Given the description of an element on the screen output the (x, y) to click on. 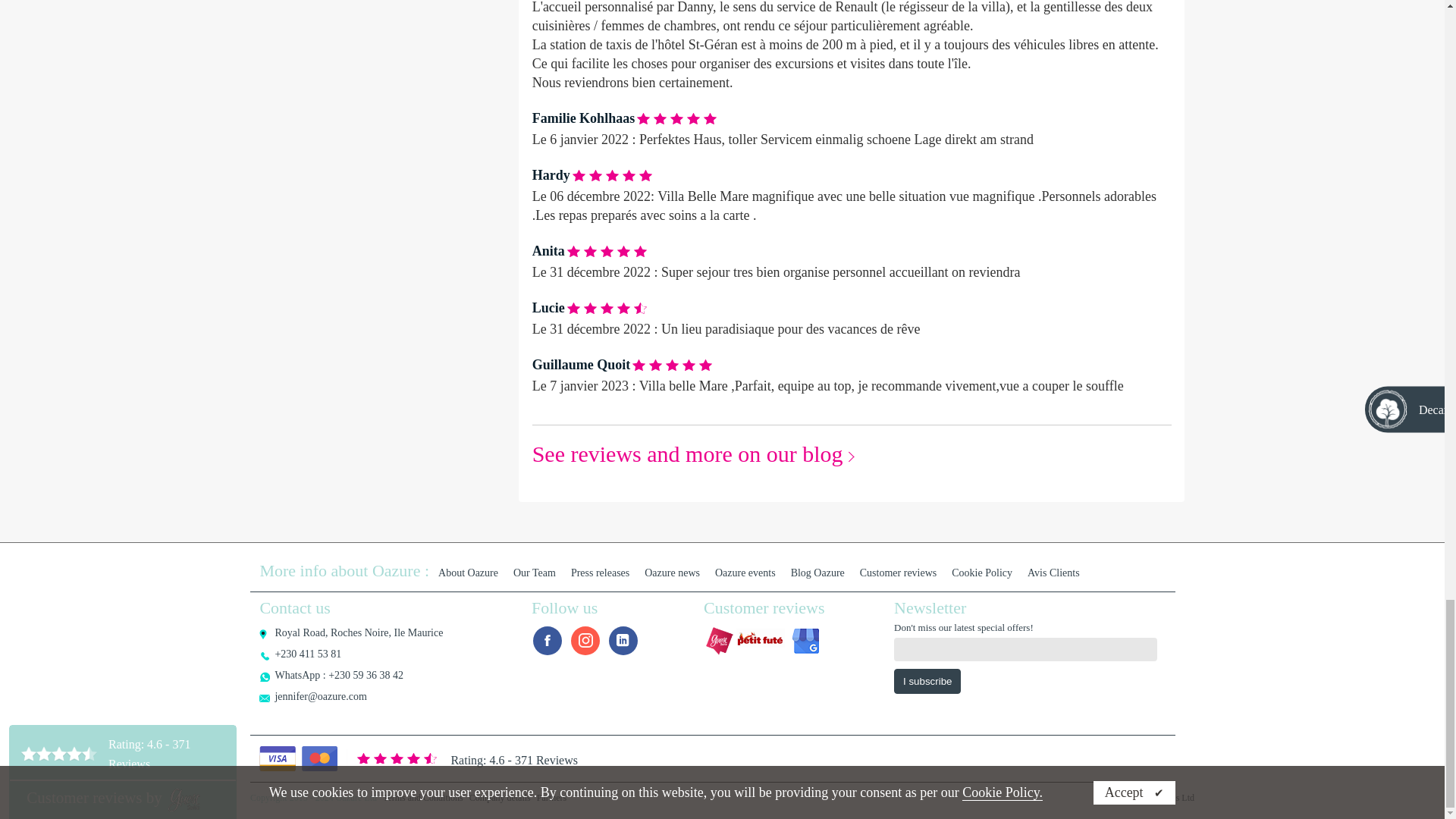
I subscribe (926, 681)
Follow us on Instagram (584, 640)
Follow us on Instagram (622, 640)
Follow us on Facebook (547, 640)
